Given the description of an element on the screen output the (x, y) to click on. 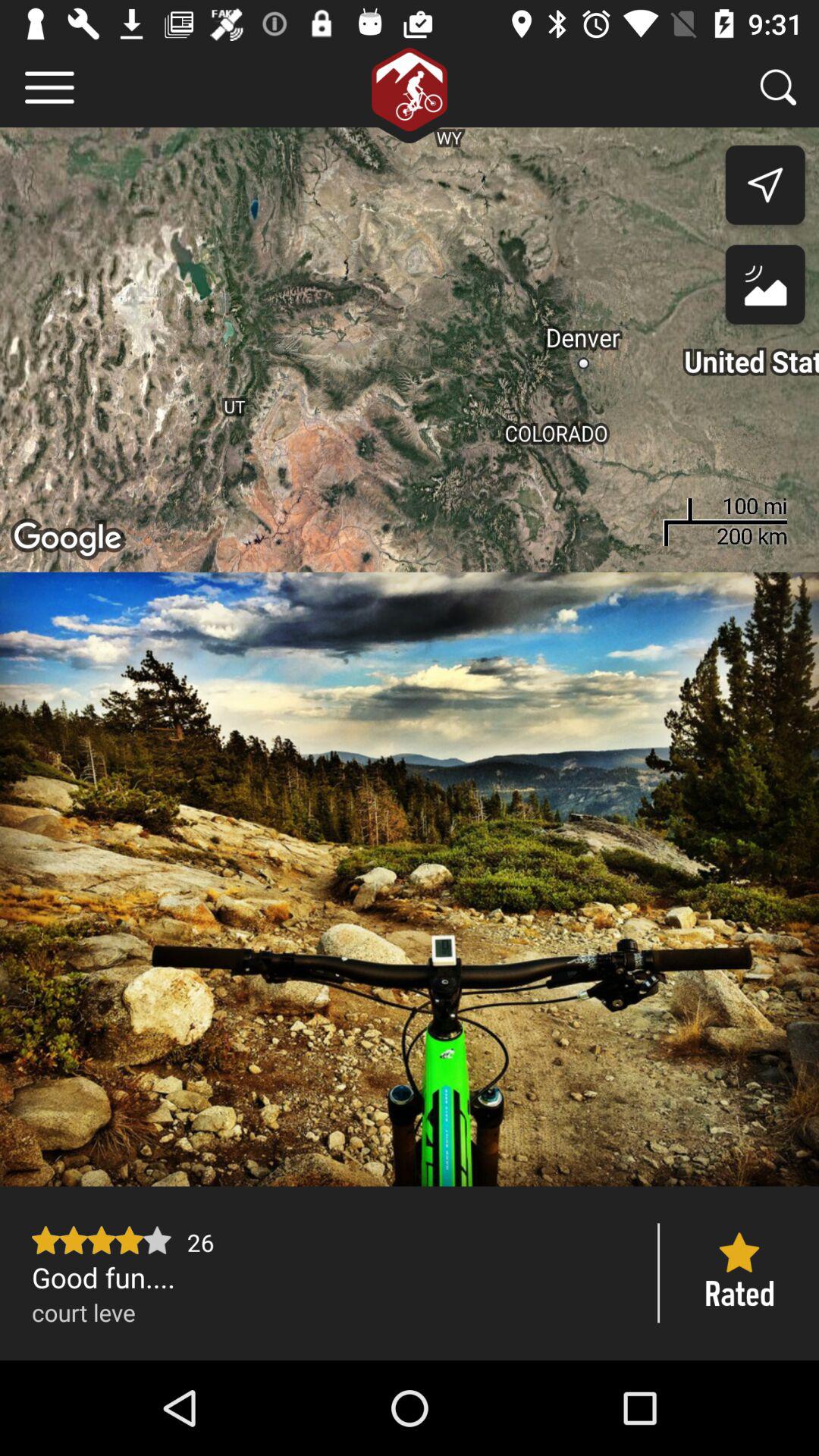
tap item at the top left corner (49, 87)
